Given the description of an element on the screen output the (x, y) to click on. 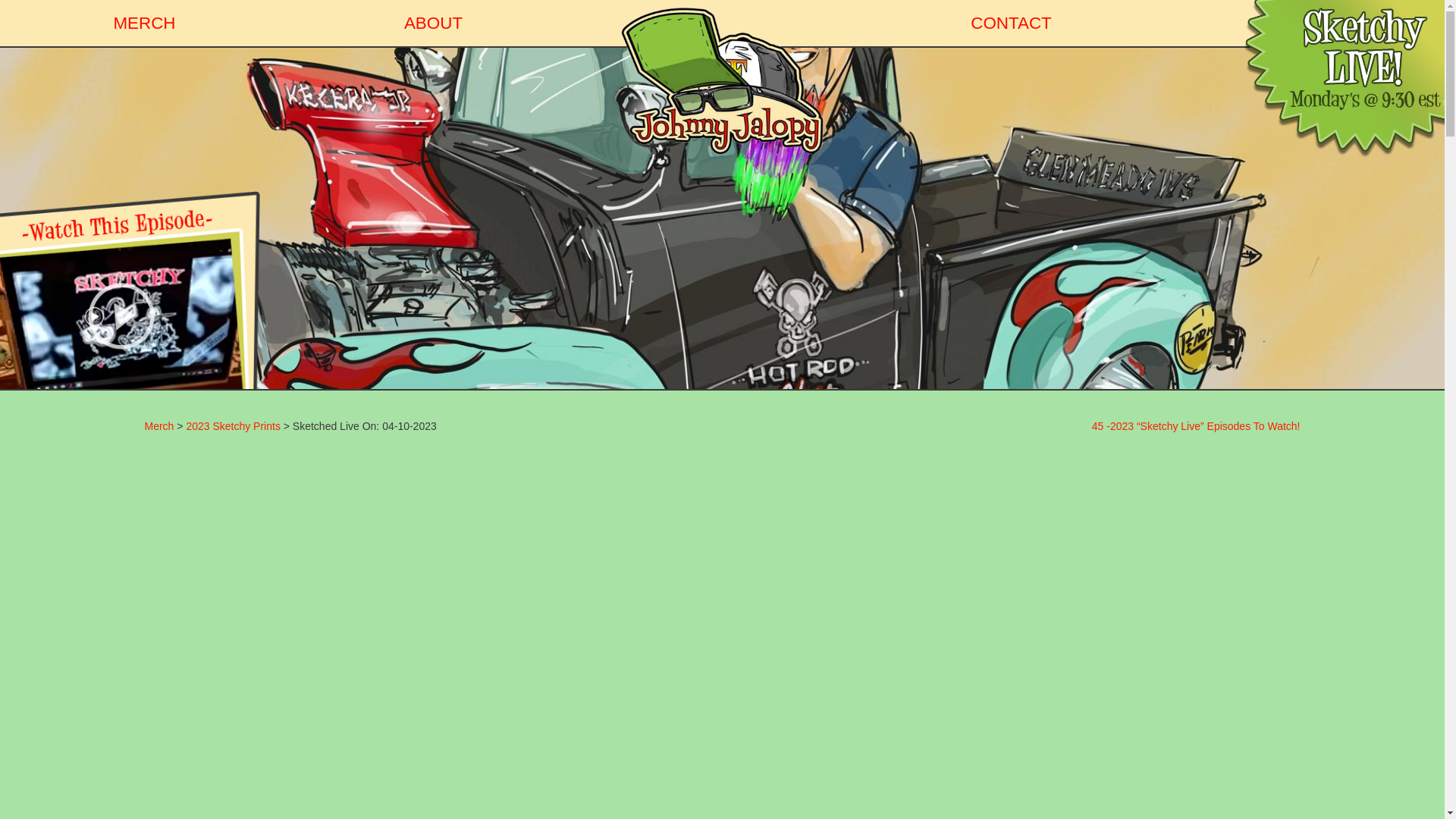
CONTACT (1011, 23)
Merch (158, 426)
Johnny Jalopy (722, 80)
ABOUT (433, 23)
MERCH (144, 23)
2023 Sketchy Prints (233, 426)
